Given the description of an element on the screen output the (x, y) to click on. 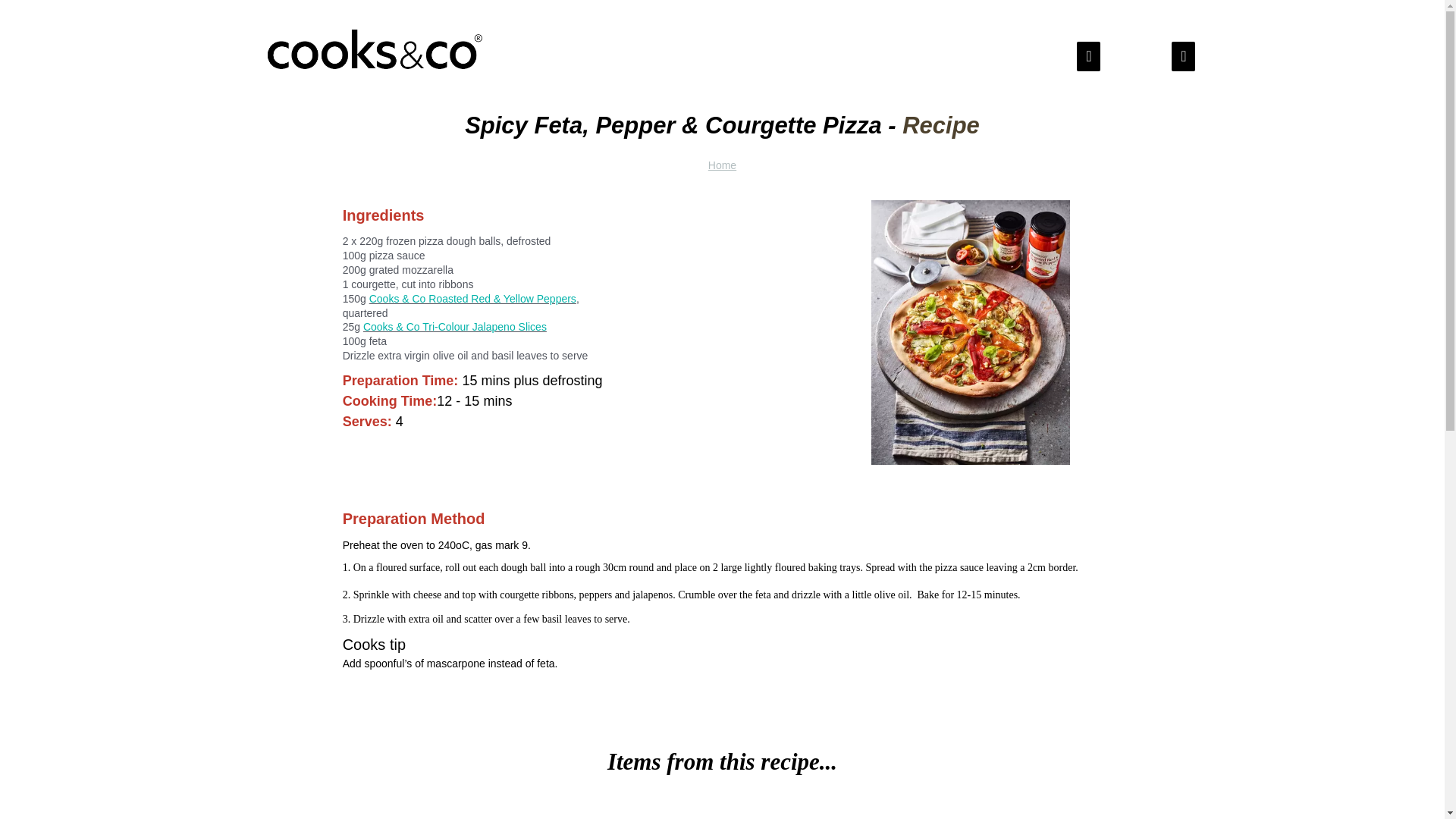
Home (721, 164)
